Given the description of an element on the screen output the (x, y) to click on. 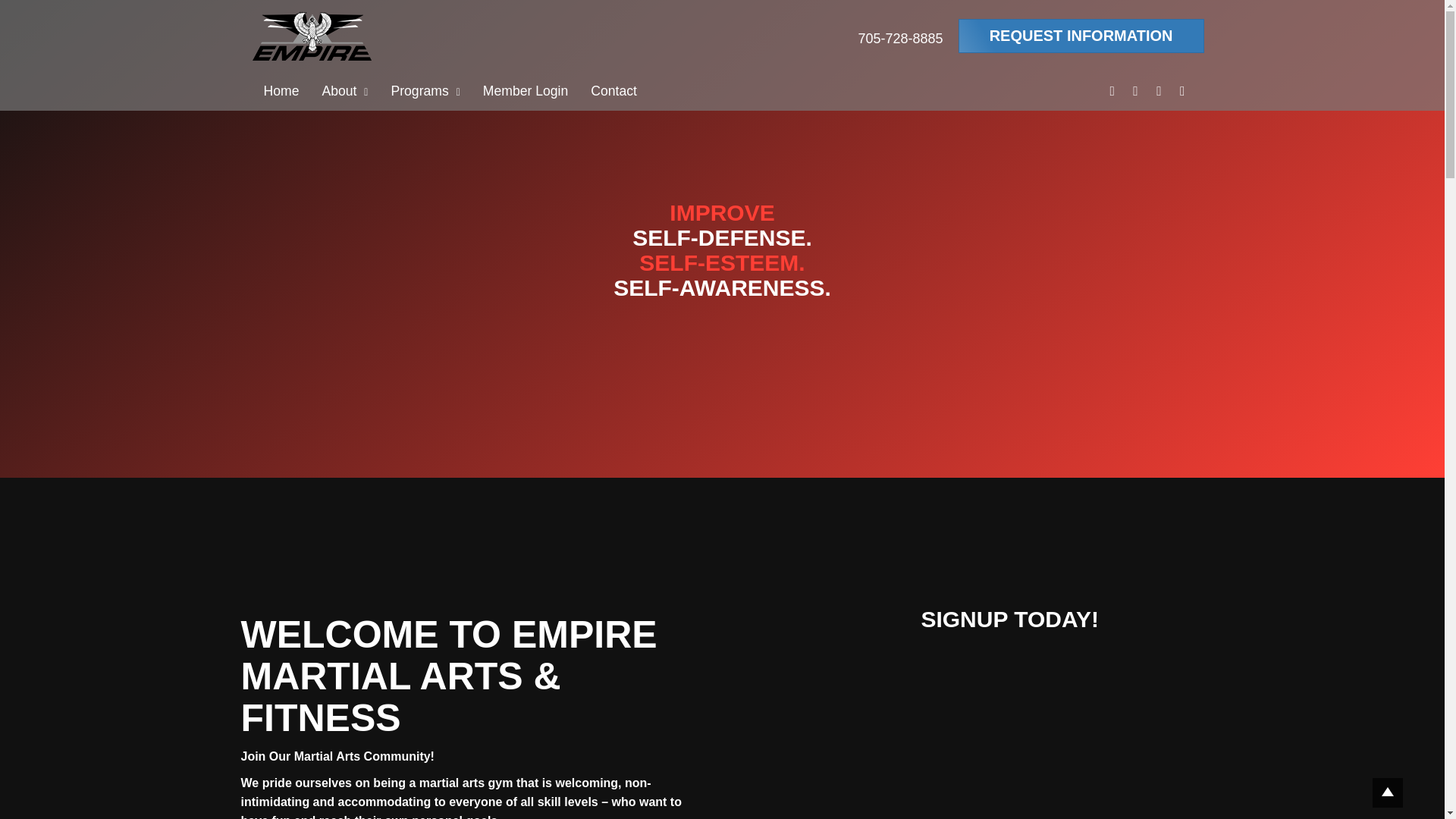
705-728-8885 (901, 39)
Member Login (525, 91)
Home (280, 91)
Programs (424, 90)
Home (280, 91)
Contact (613, 91)
About (344, 90)
REQUEST INFORMATION (1081, 35)
Contact (613, 91)
Programs (424, 90)
About (344, 90)
Member Login (525, 91)
